Given the description of an element on the screen output the (x, y) to click on. 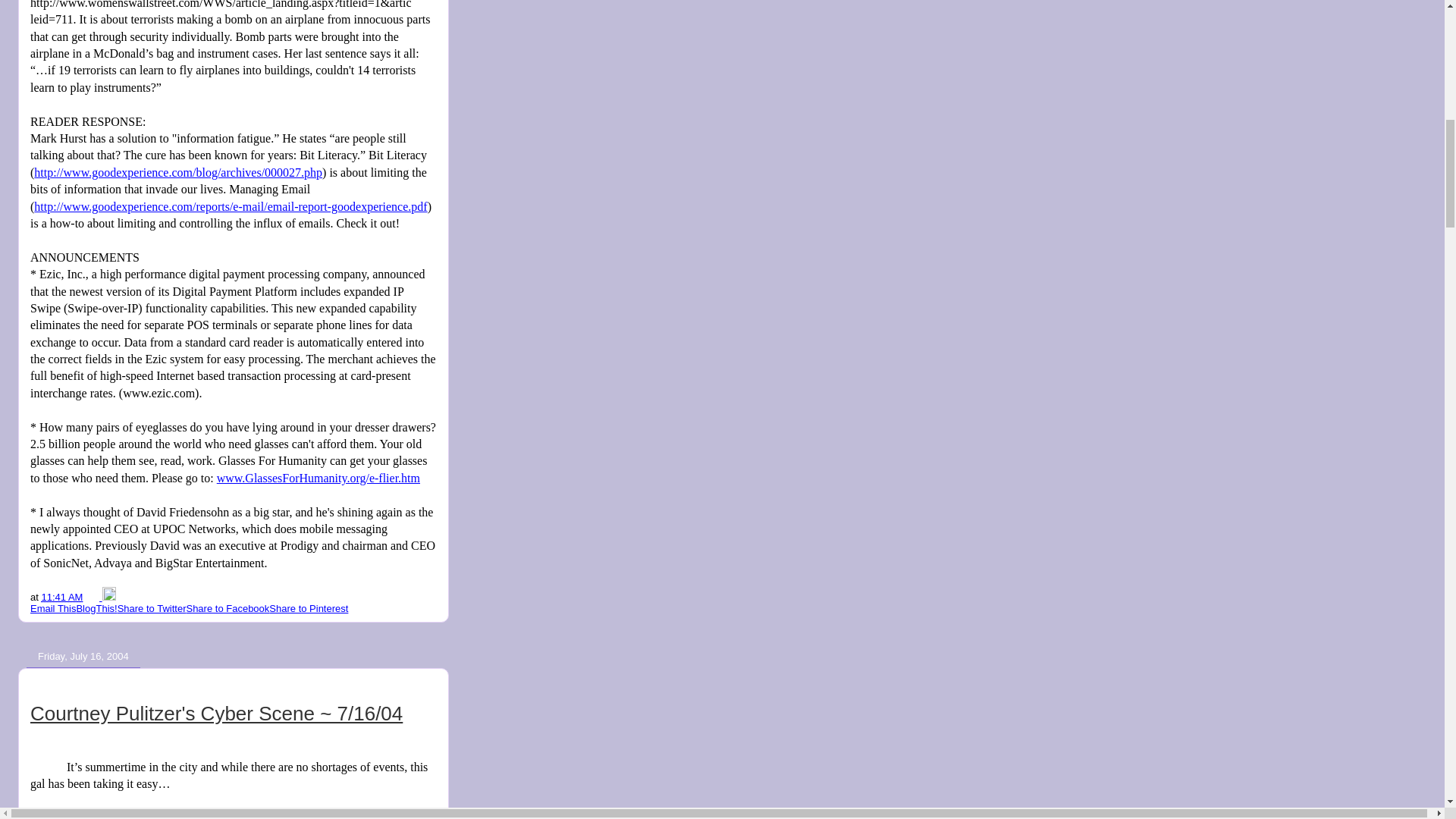
BlogThis! (95, 608)
Share to Twitter (151, 608)
Email This (52, 608)
Share to Facebook (227, 608)
permanent link (61, 596)
Share to Facebook (227, 608)
Email Post (93, 596)
Share to Pinterest (308, 608)
Share to Twitter (151, 608)
Email This (52, 608)
Edit Post (108, 596)
Share to Pinterest (308, 608)
BlogThis! (95, 608)
11:41 AM (61, 596)
